Given the description of an element on the screen output the (x, y) to click on. 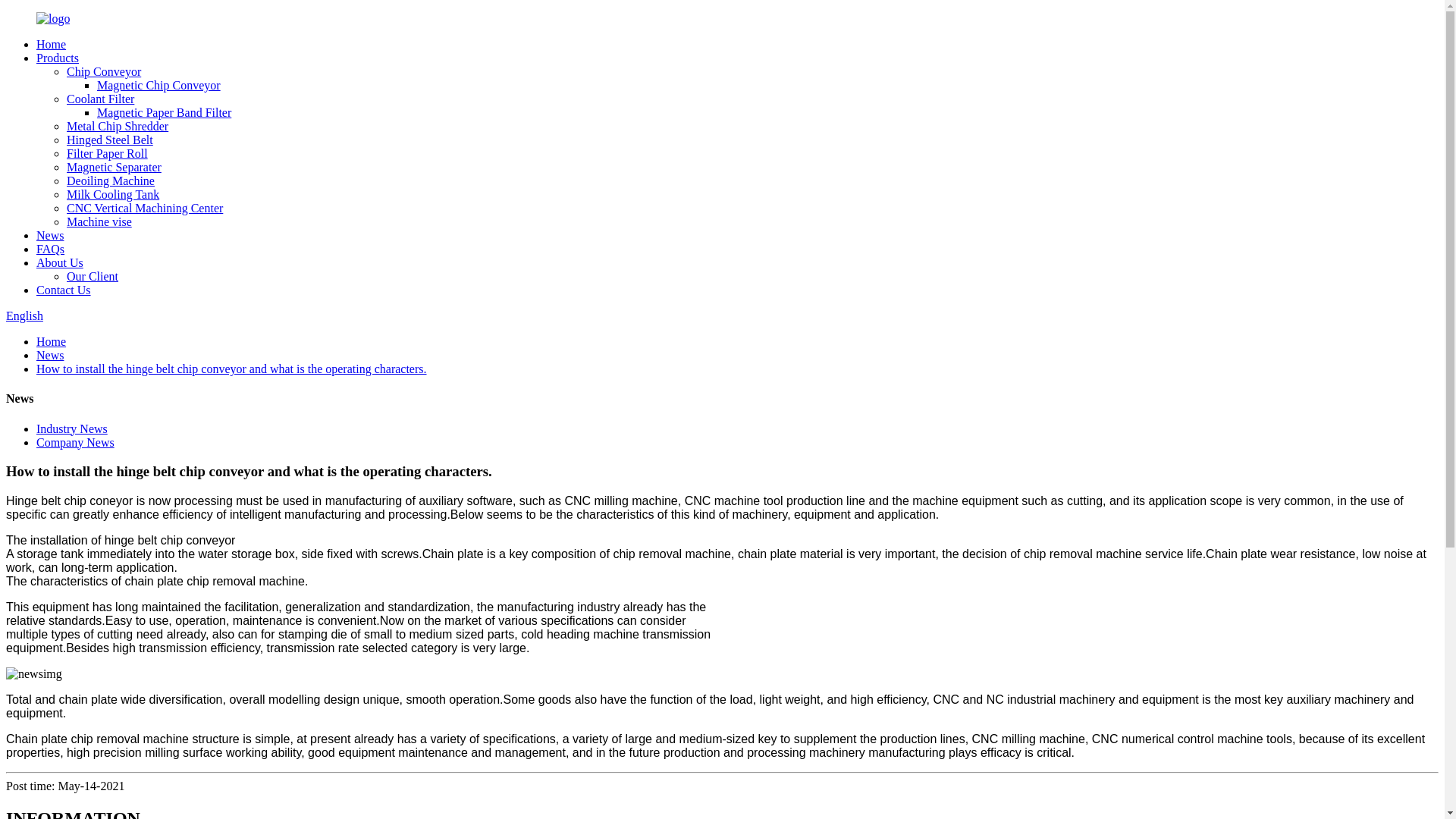
FAQs (50, 248)
Magnetic Paper Band Filter (164, 112)
Home (50, 43)
Filter Paper Roll (107, 153)
Contact Us (63, 289)
Chip Conveyor (103, 71)
Products (57, 57)
News (50, 354)
Industry News (71, 428)
Home (50, 341)
News (50, 235)
CNC Vertical Machining Center (144, 207)
Magnetic Separater (113, 166)
About Us (59, 262)
